Given the description of an element on the screen output the (x, y) to click on. 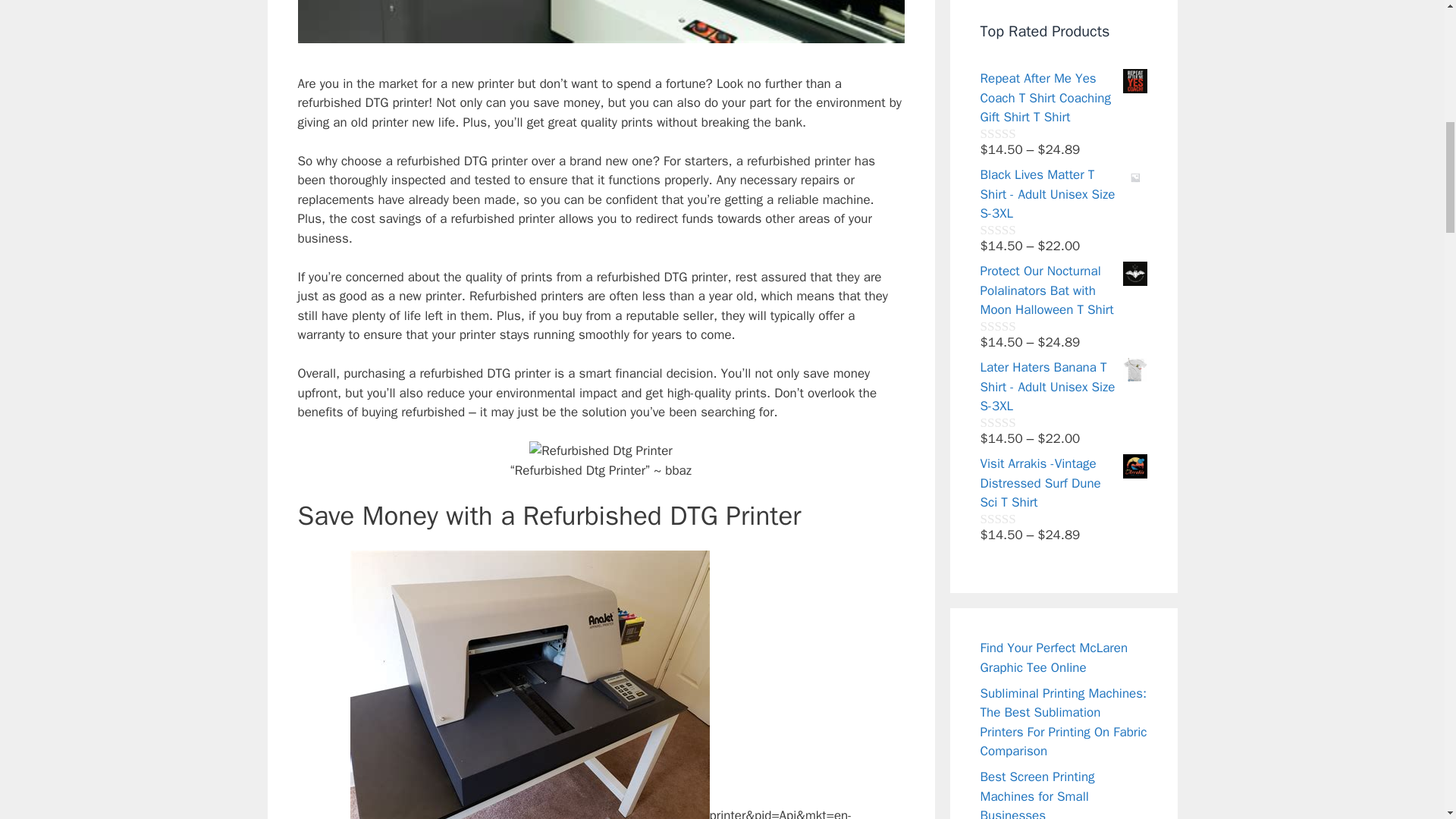
Not yet rated (1014, 326)
Visit Arrakis -Vintage Distressed Surf Dune Sci T Shirt (1063, 483)
Not yet rated (1014, 228)
Not yet rated (1014, 518)
Scroll back to top (1406, 720)
Best Screen Printing Machines for Small Businesses (1036, 794)
Not yet rated (1014, 133)
